Given the description of an element on the screen output the (x, y) to click on. 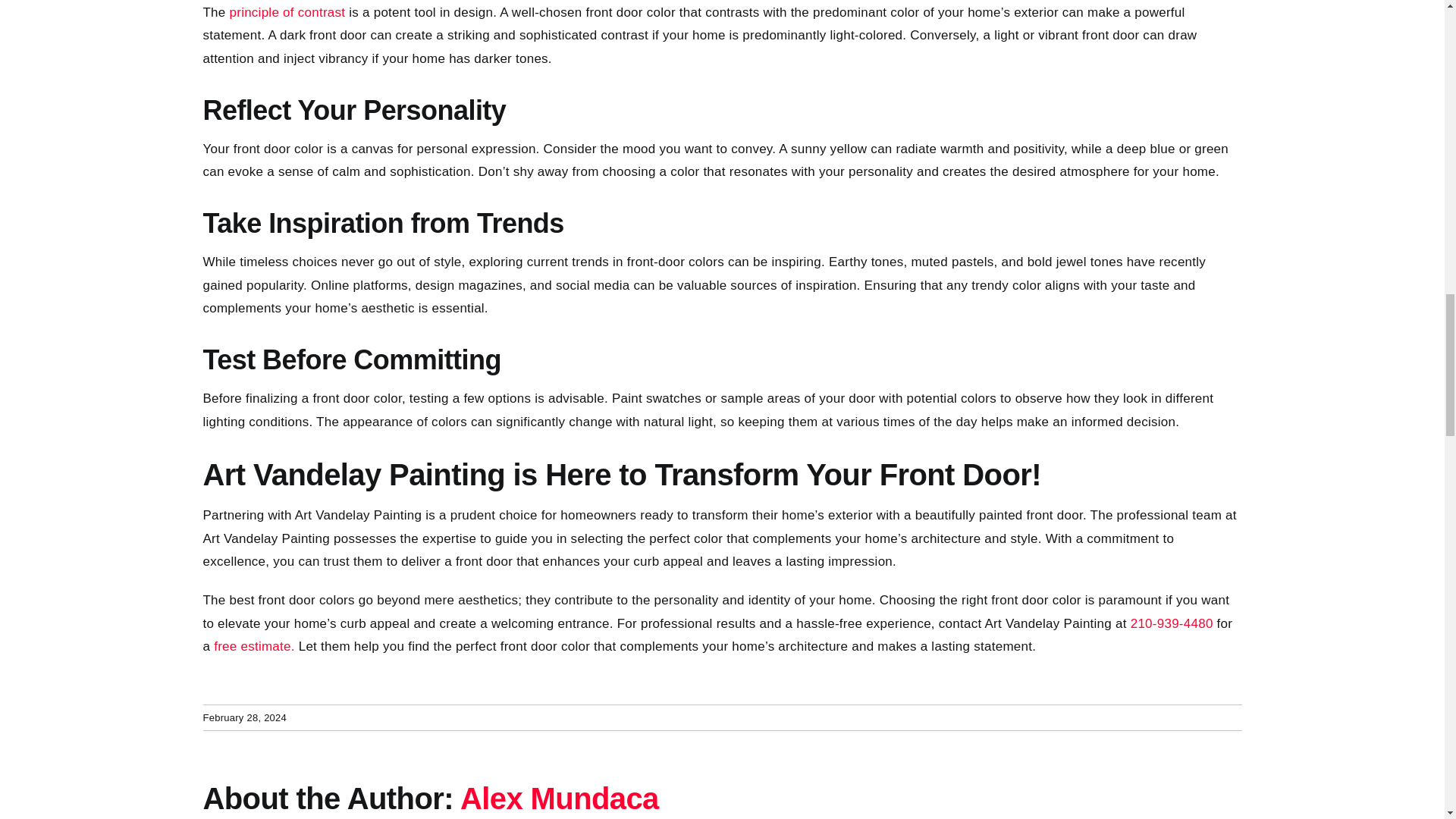
Posts by Alex Mundaca (559, 798)
